Given the description of an element on the screen output the (x, y) to click on. 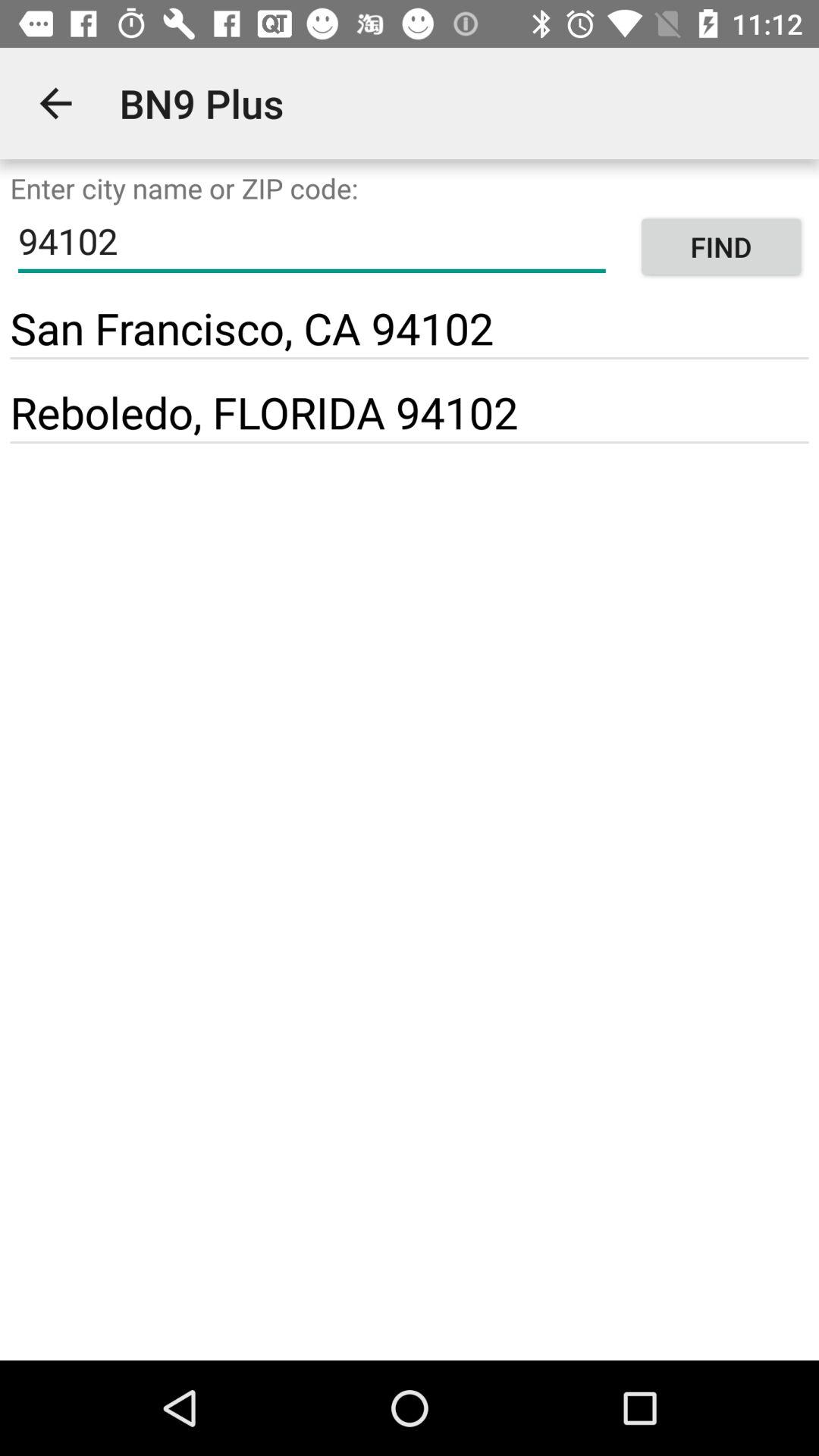
turn off icon below reboledo, florida 94102 item (409, 442)
